Given the description of an element on the screen output the (x, y) to click on. 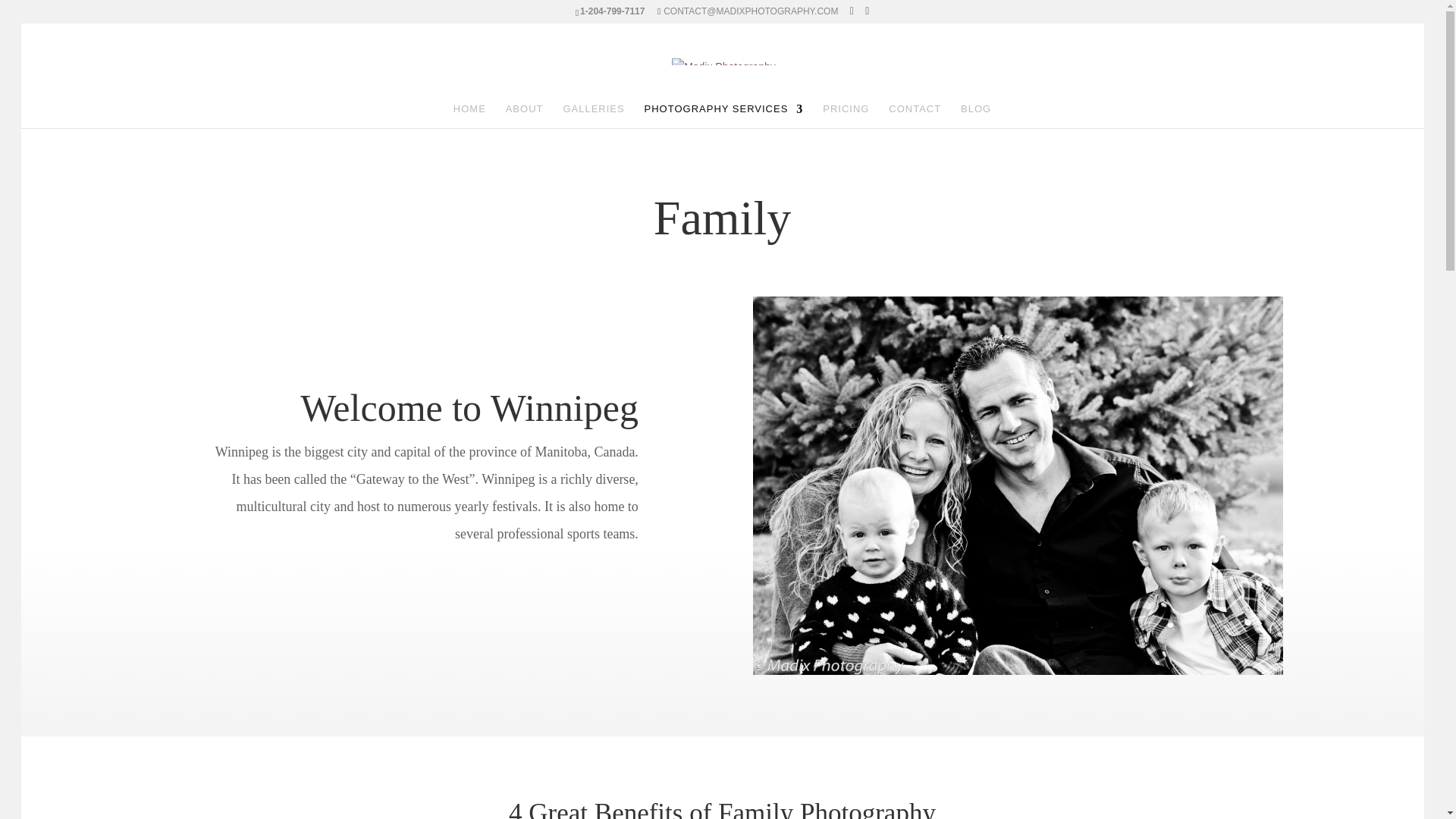
HOME (469, 115)
PHOTOGRAPHY SERVICES (724, 115)
PRICING (845, 115)
ABOUT (524, 115)
BLOG (975, 115)
GALLERIES (593, 115)
CONTACT (914, 115)
